Given the description of an element on the screen output the (x, y) to click on. 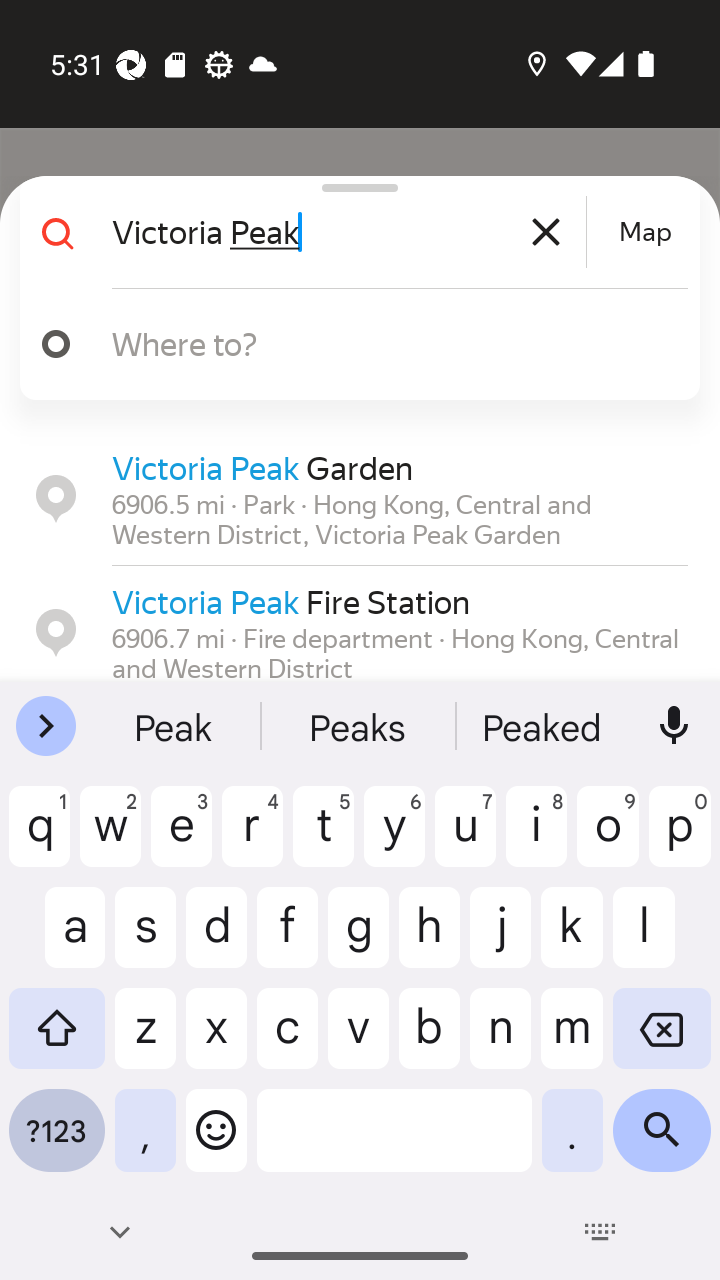
Victoria Peak Clear text box Map Map (352, 232)
Map (645, 232)
Clear text box (546, 231)
Victoria Peak (346, 232)
Where to? (352, 343)
Where to? (373, 343)
